Given the description of an element on the screen output the (x, y) to click on. 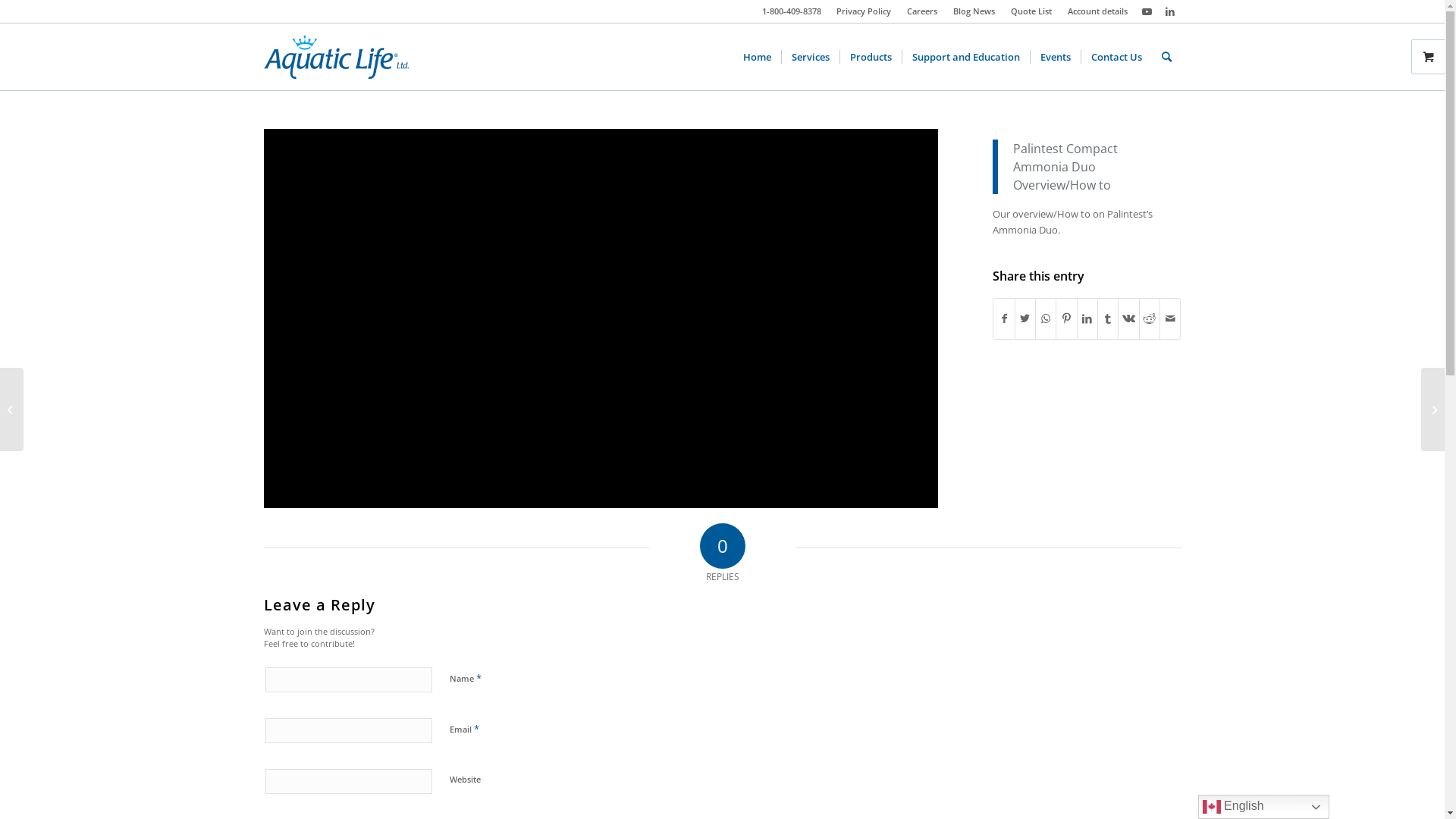
Youtube Element type: hover (1146, 11)
Privacy Policy Element type: text (862, 10)
Blog News Element type: text (973, 10)
Contact Us Element type: text (1115, 56)
Careers Element type: text (921, 10)
Support and Education Element type: text (964, 56)
Home Element type: text (756, 56)
Products Element type: text (869, 56)
LinkedIn Element type: hover (1169, 11)
Services Element type: text (810, 56)
Events Element type: text (1054, 56)
Account details Element type: text (1097, 10)
Quote List Element type: text (1030, 10)
